Given the description of an element on the screen output the (x, y) to click on. 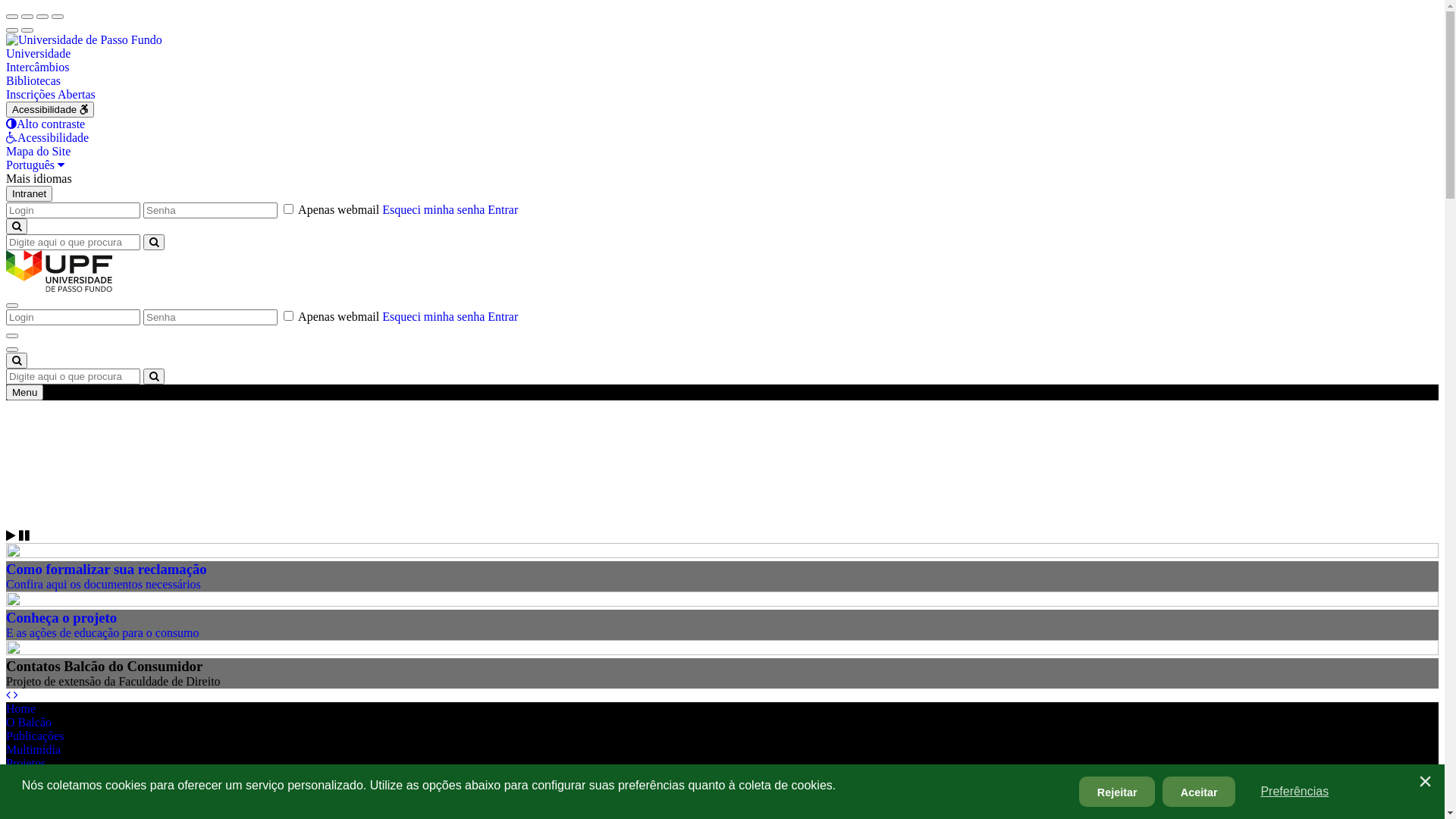
Esqueci minha senha Element type: text (433, 209)
Rejeitar Element type: text (1116, 791)
Zoom in/out Element type: hover (57, 16)
rodar slider Element type: text (12, 535)
Acessibilidade Element type: text (50, 109)
Next (arrow right) Element type: hover (27, 30)
Acessibilidade Element type: text (47, 137)
Previous (arrow left) Element type: hover (12, 30)
busca Element type: text (16, 360)
Projetos Element type: text (25, 762)
Mapa do Site Element type: text (38, 150)
Alto contraste Element type: text (45, 123)
Share Element type: hover (27, 16)
busca Element type: text (16, 226)
Aceitar Element type: text (1198, 791)
Entrar Element type: text (502, 209)
Atendimento Online Element type: text (55, 790)
Contatos Element type: text (27, 803)
Intranet Element type: text (29, 193)
Close (Esc) Element type: hover (12, 16)
Home Element type: text (20, 708)
Toggle fullscreen Element type: hover (42, 16)
Esqueci minha senha Element type: text (433, 316)
pausar slider Element type: text (23, 535)
Entrar Element type: text (502, 316)
Universidade Element type: text (38, 53)
Menu Element type: text (24, 392)
baner anterior Element type: text (8, 694)
Bibliotecas Element type: text (33, 80)
